Given the description of an element on the screen output the (x, y) to click on. 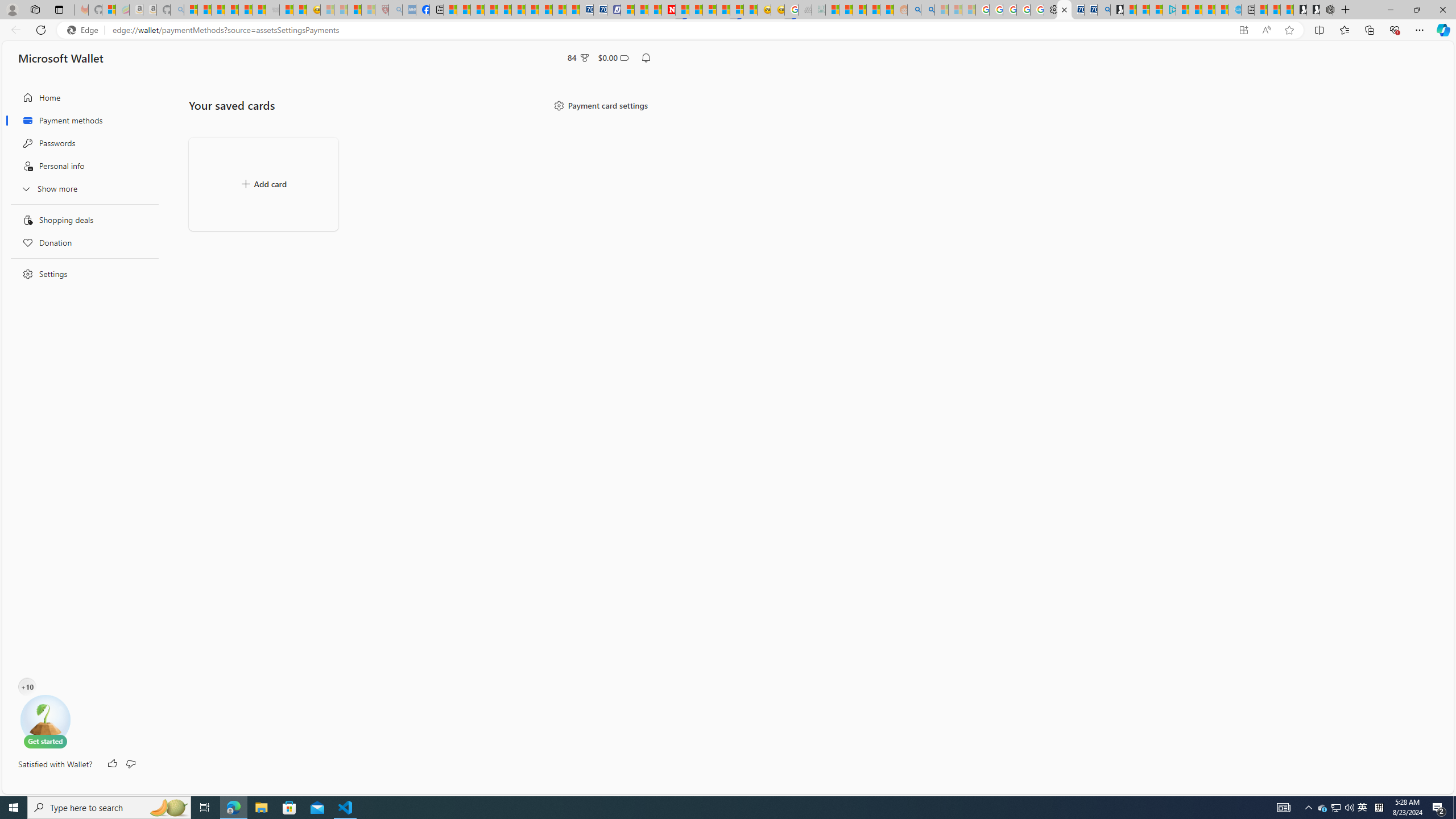
Payment methods (81, 120)
Bing Real Estate - Home sales and rental listings (1103, 9)
Personal info (81, 165)
